Given the description of an element on the screen output the (x, y) to click on. 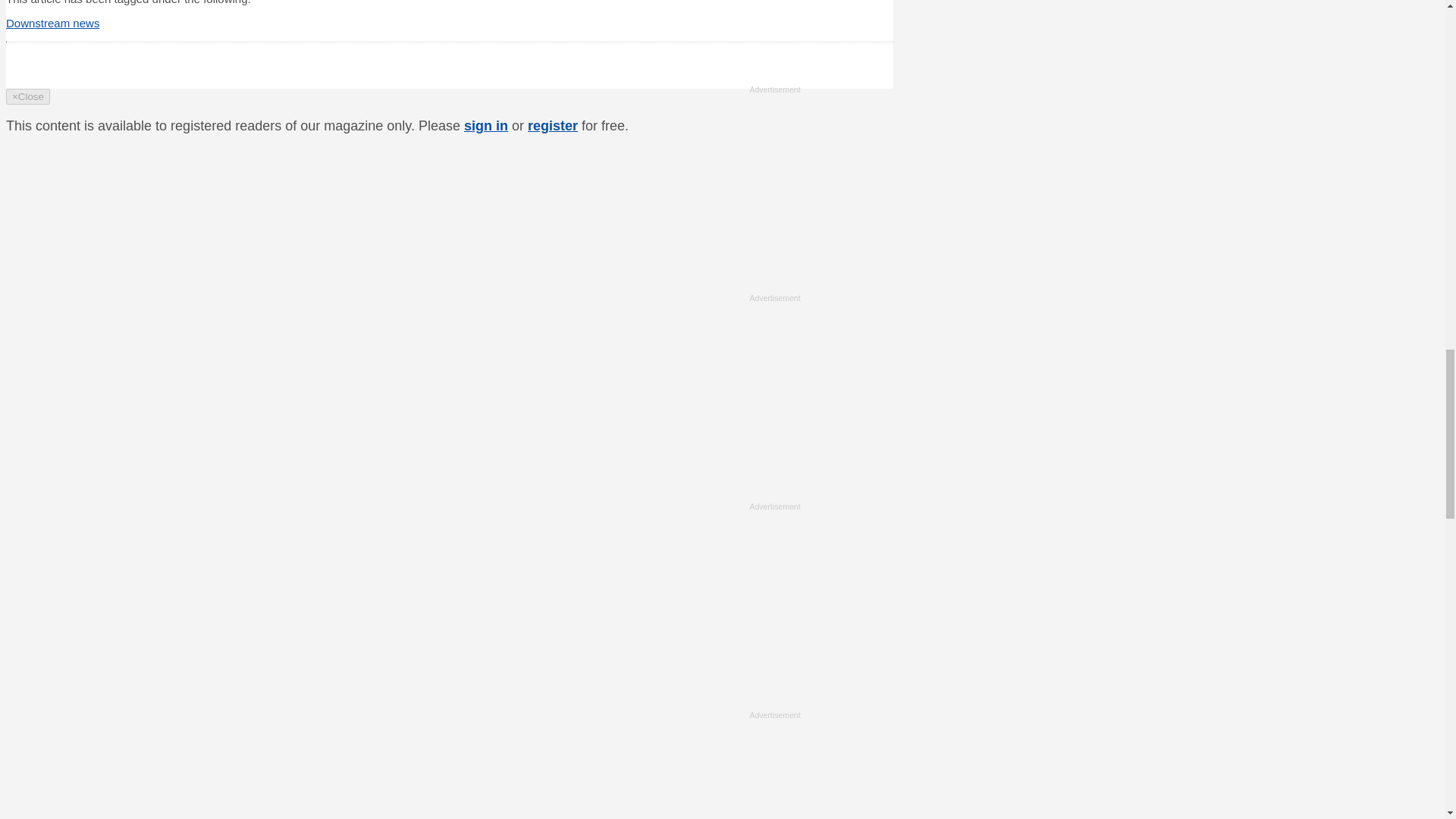
Downstream news (52, 22)
register (552, 125)
sign in (486, 125)
